Given the description of an element on the screen output the (x, y) to click on. 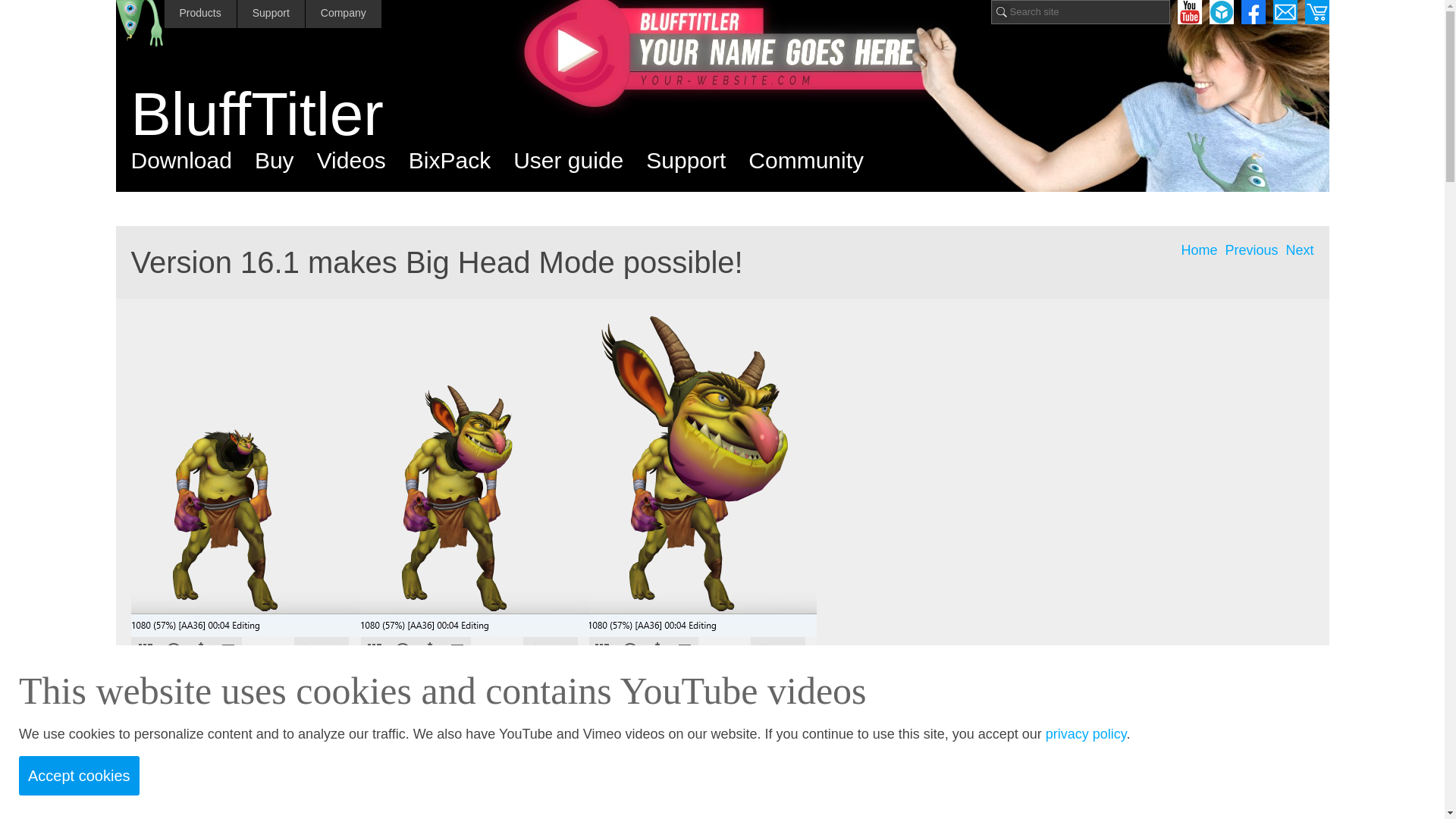
Community (805, 160)
Videos (351, 160)
Previous (1251, 250)
Support (685, 160)
View your shopping cart (1315, 12)
Accept cookies (78, 775)
Support (271, 14)
Download (181, 160)
Next (1299, 250)
Products (199, 14)
Visit our Sketchfab channel (1220, 12)
BluffTitler (729, 114)
Buy (274, 160)
Company (343, 14)
Visit our Facebook page (1252, 12)
